Given the description of an element on the screen output the (x, y) to click on. 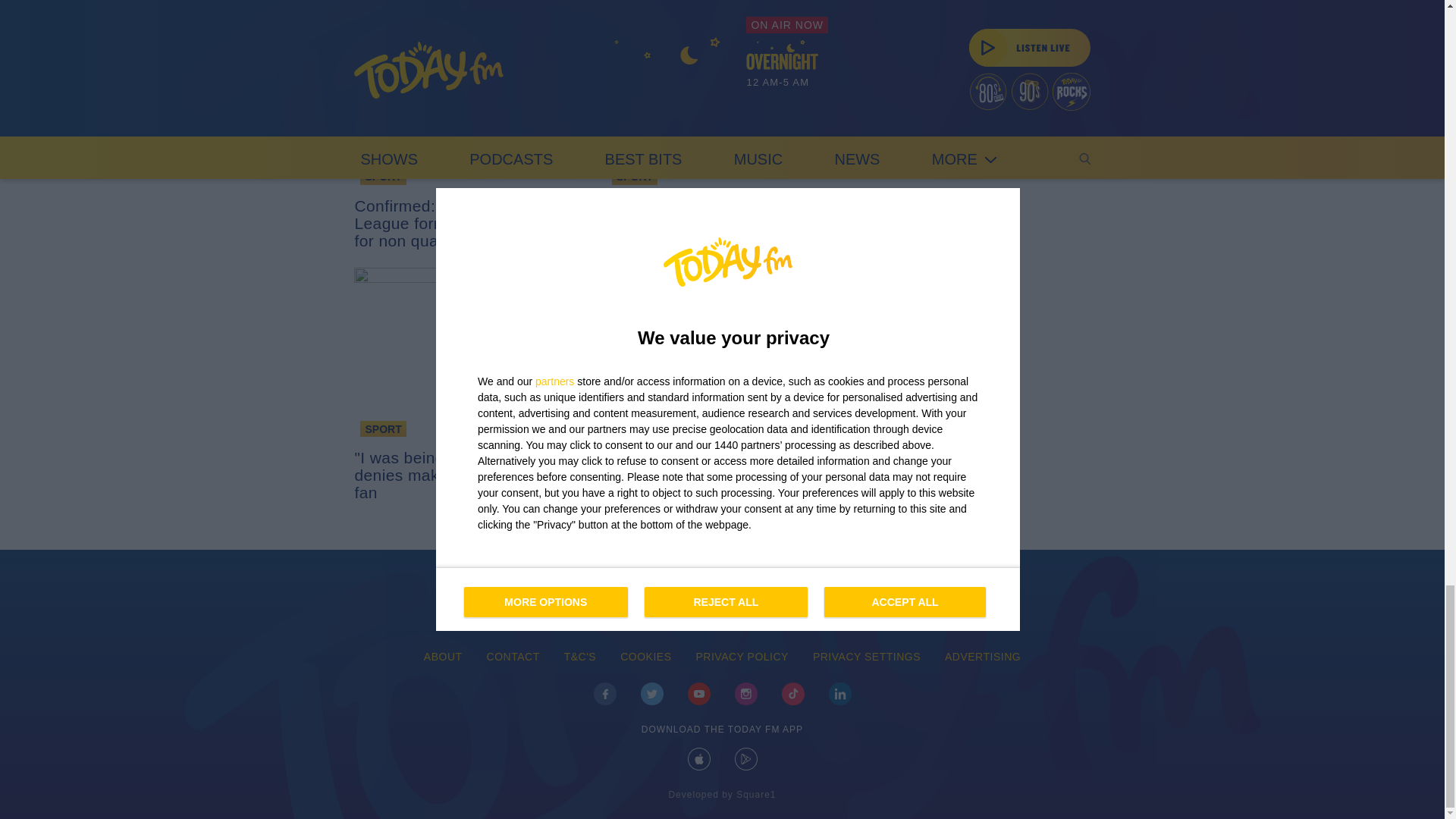
Cookies (645, 656)
Advertising (982, 656)
Privacy settings (866, 656)
Contact (512, 656)
About (443, 656)
Privacy Policy (742, 656)
